Given the description of an element on the screen output the (x, y) to click on. 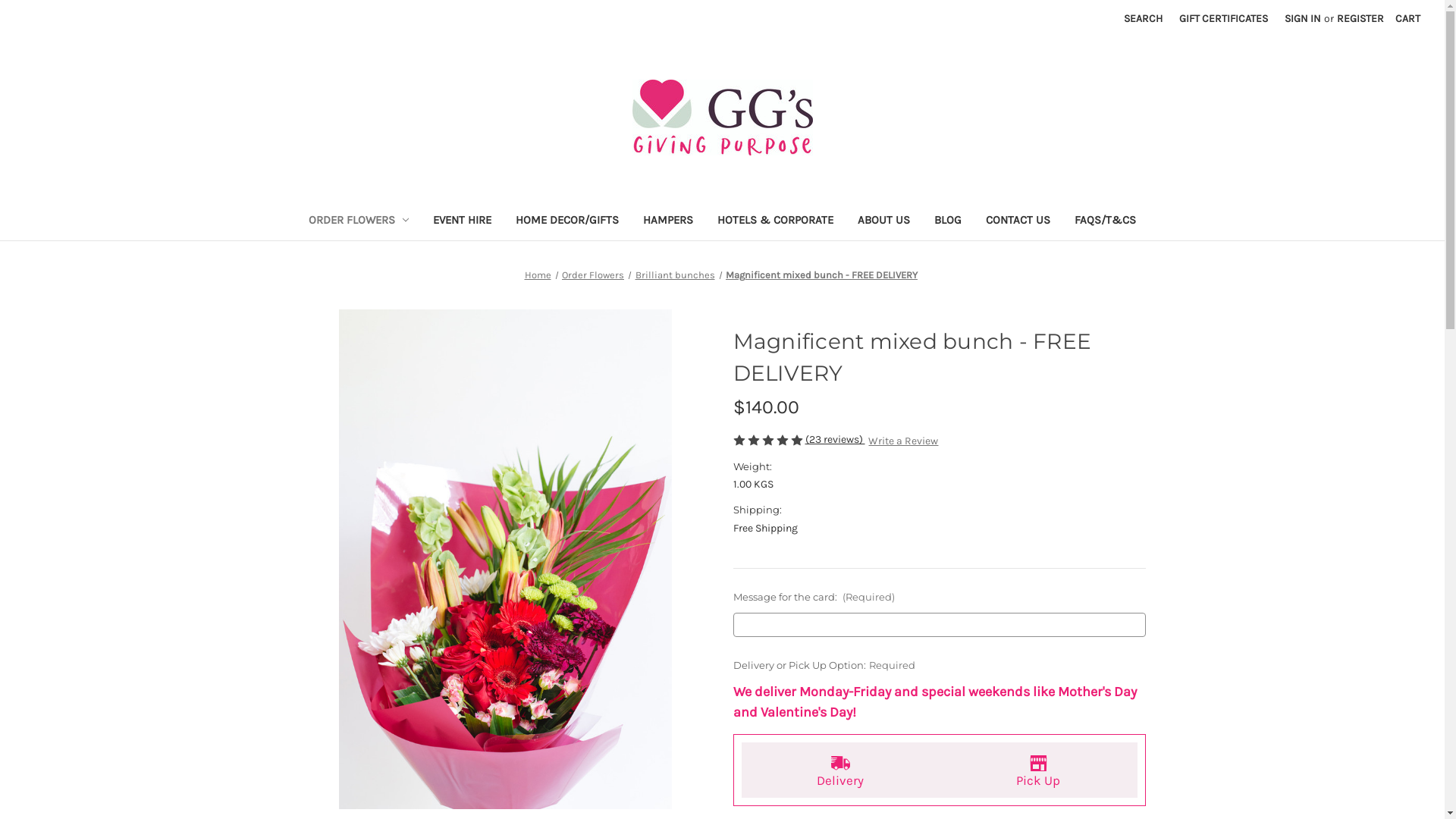
HAMPERS Element type: text (667, 221)
HOME DECOR/GIFTS Element type: text (566, 221)
BLOG Element type: text (947, 221)
Brilliant bunches Element type: text (675, 274)
REGISTER Element type: text (1360, 18)
Home Element type: text (537, 274)
ABOUT US Element type: text (883, 221)
FAQS/T&CS Element type: text (1105, 221)
CART Element type: text (1407, 18)
HOTELS & CORPORATE Element type: text (775, 221)
GIFT CERTIFICATES Element type: text (1223, 18)
(23 reviews) Element type: text (835, 439)
CONTACT US Element type: text (1017, 221)
Delivery Element type: text (840, 769)
SEARCH Element type: text (1142, 18)
Magnificent mixed bunch - FREE DELIVERY Element type: text (821, 274)
Write a Review Element type: text (903, 440)
Add to Cart Element type: text (486, 15)
Order Flowers Element type: text (592, 274)
Magnificent mixed bunch - FREE DELIVERY Element type: hover (504, 559)
ORDER FLOWERS Element type: text (357, 221)
SIGN IN Element type: text (1302, 18)
EVENT HIRE Element type: text (461, 221)
Pick Up Element type: text (1037, 769)
GG's Flowers Element type: hover (722, 117)
